Given the description of an element on the screen output the (x, y) to click on. 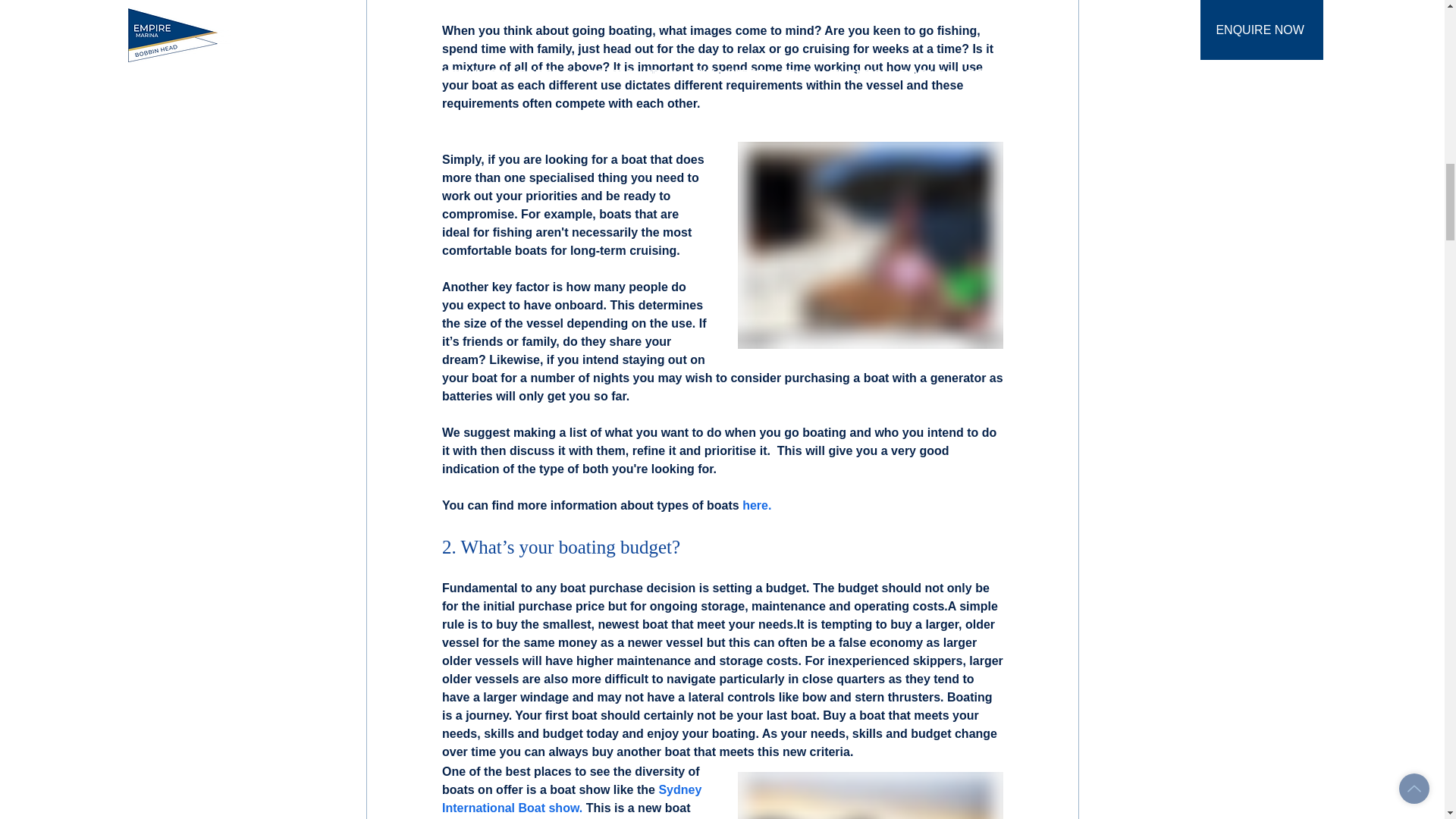
 Sydney International Boat show. (572, 798)
 here. (754, 504)
